Given the description of an element on the screen output the (x, y) to click on. 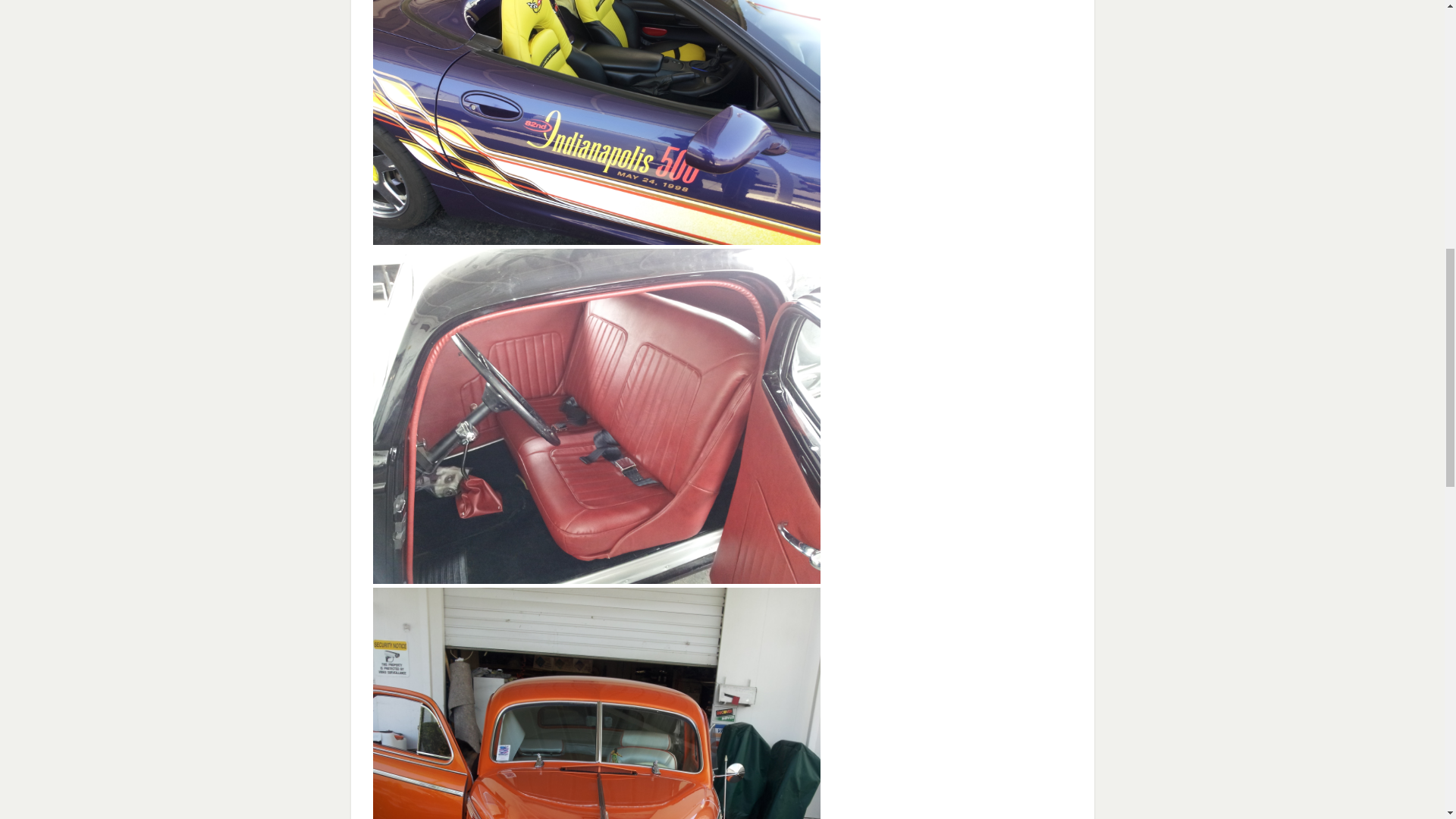
Auto upholstery.jpg (596, 122)
auto upholstery (596, 238)
Classic car 01.jpg (596, 703)
auto upholstery (596, 577)
